Given the description of an element on the screen output the (x, y) to click on. 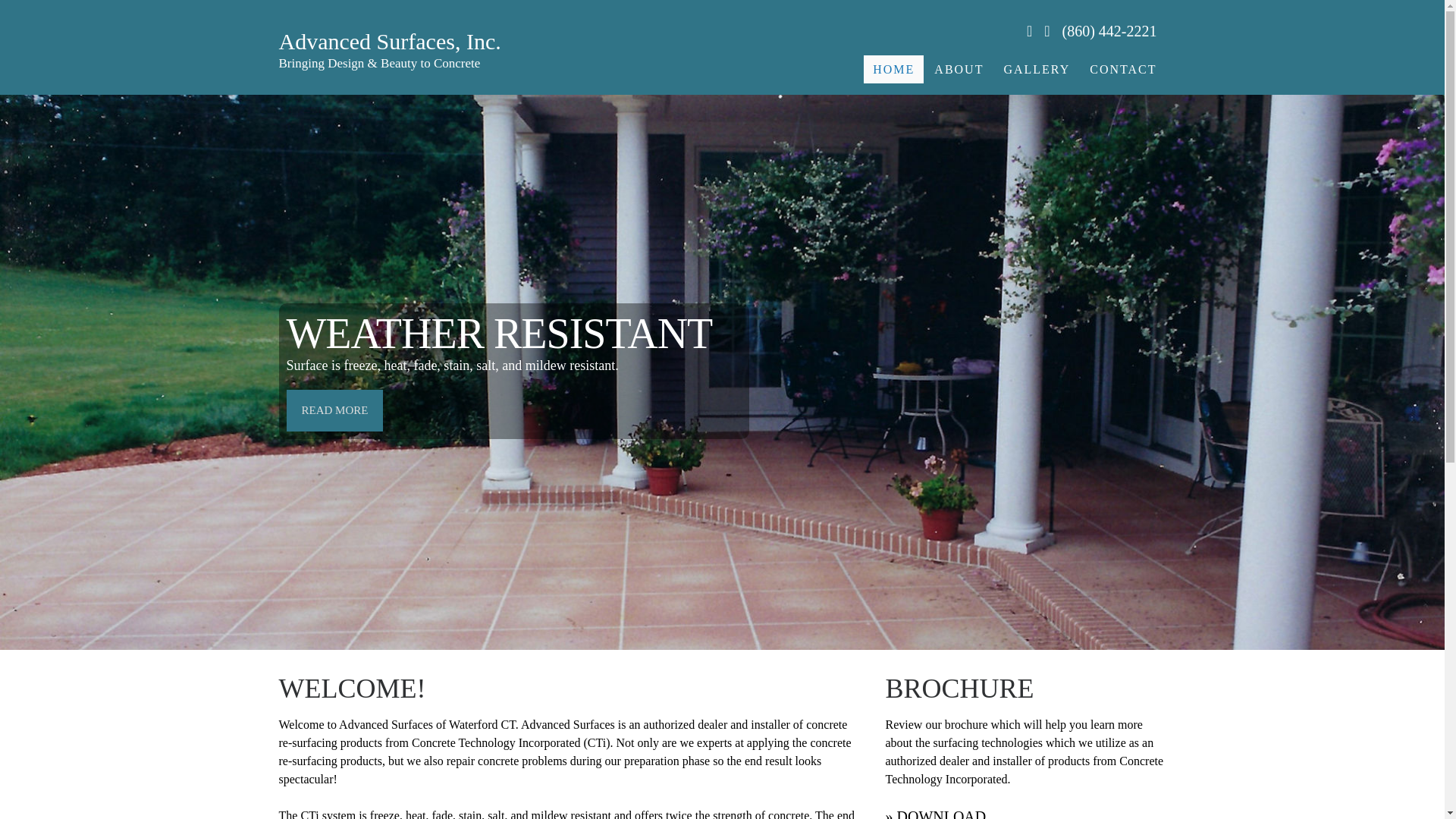
GALLERY (1036, 69)
DOWNLOAD (940, 813)
Contact information for Advanced Surfaces, Inc (1123, 69)
Call Advanced Surfaces (1114, 30)
ABOUT (958, 69)
HOME (893, 69)
READ MORE (335, 410)
CONTACT (1123, 69)
Background information for Advanced Surfaces, Inc (958, 69)
Advanced Surfaces home page (389, 49)
Home page for Advanced Surfaces, Inc (893, 69)
